Given the description of an element on the screen output the (x, y) to click on. 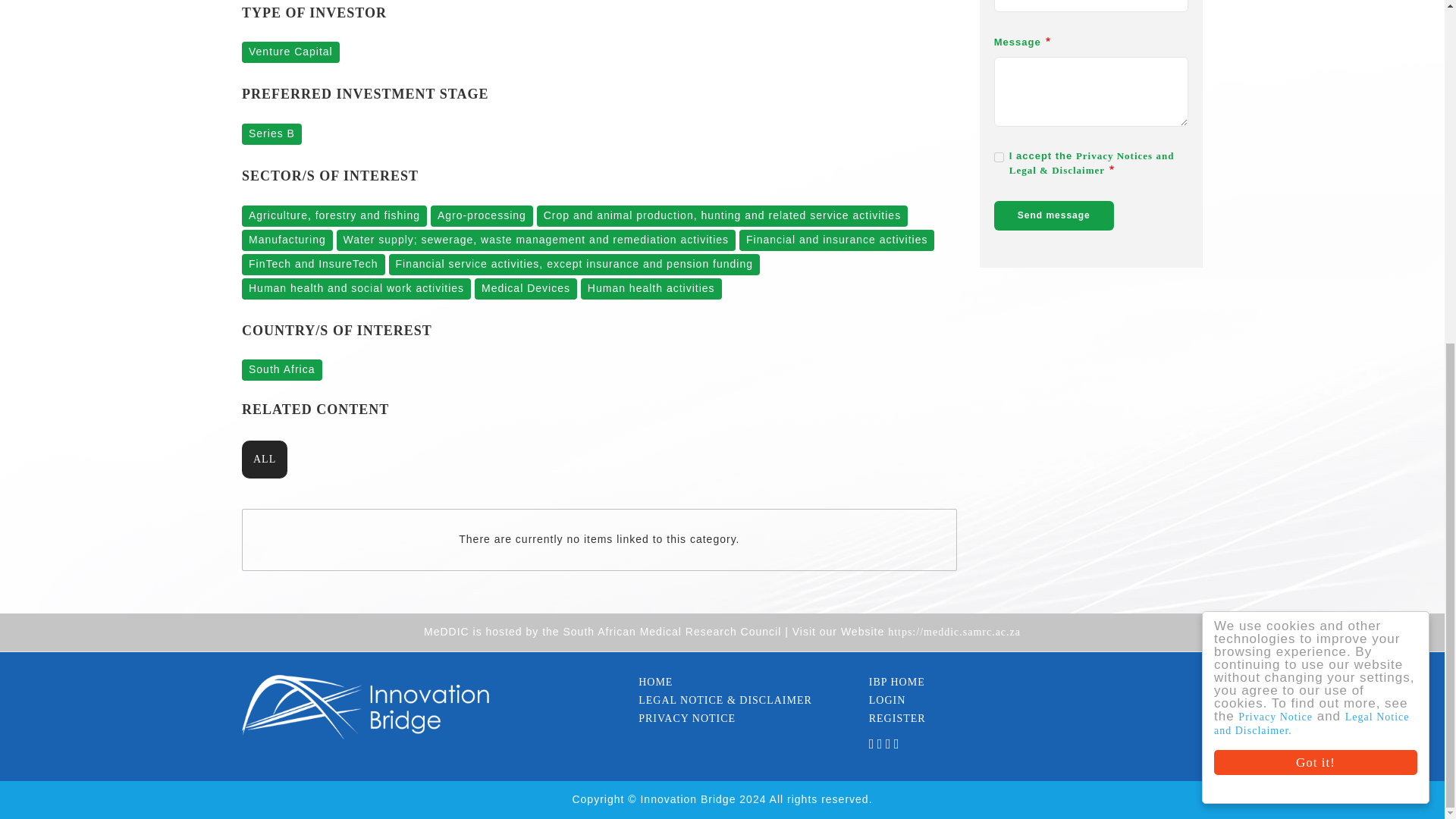
Got it! (1329, 175)
Legal Notice and Disclaimer. (1323, 136)
Privacy Notice (1287, 129)
